Given the description of an element on the screen output the (x, y) to click on. 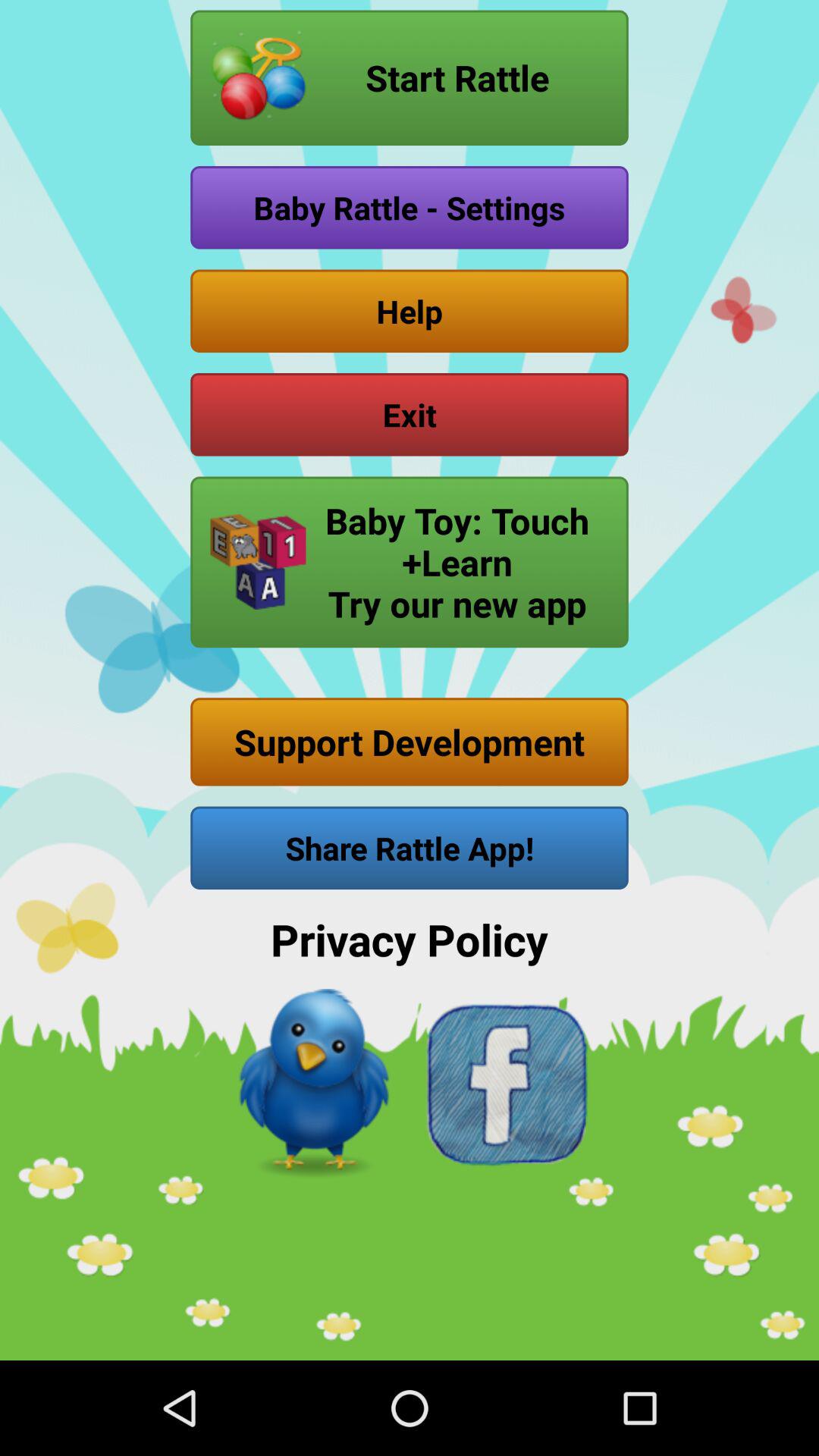
facebook link (504, 1084)
